Given the description of an element on the screen output the (x, y) to click on. 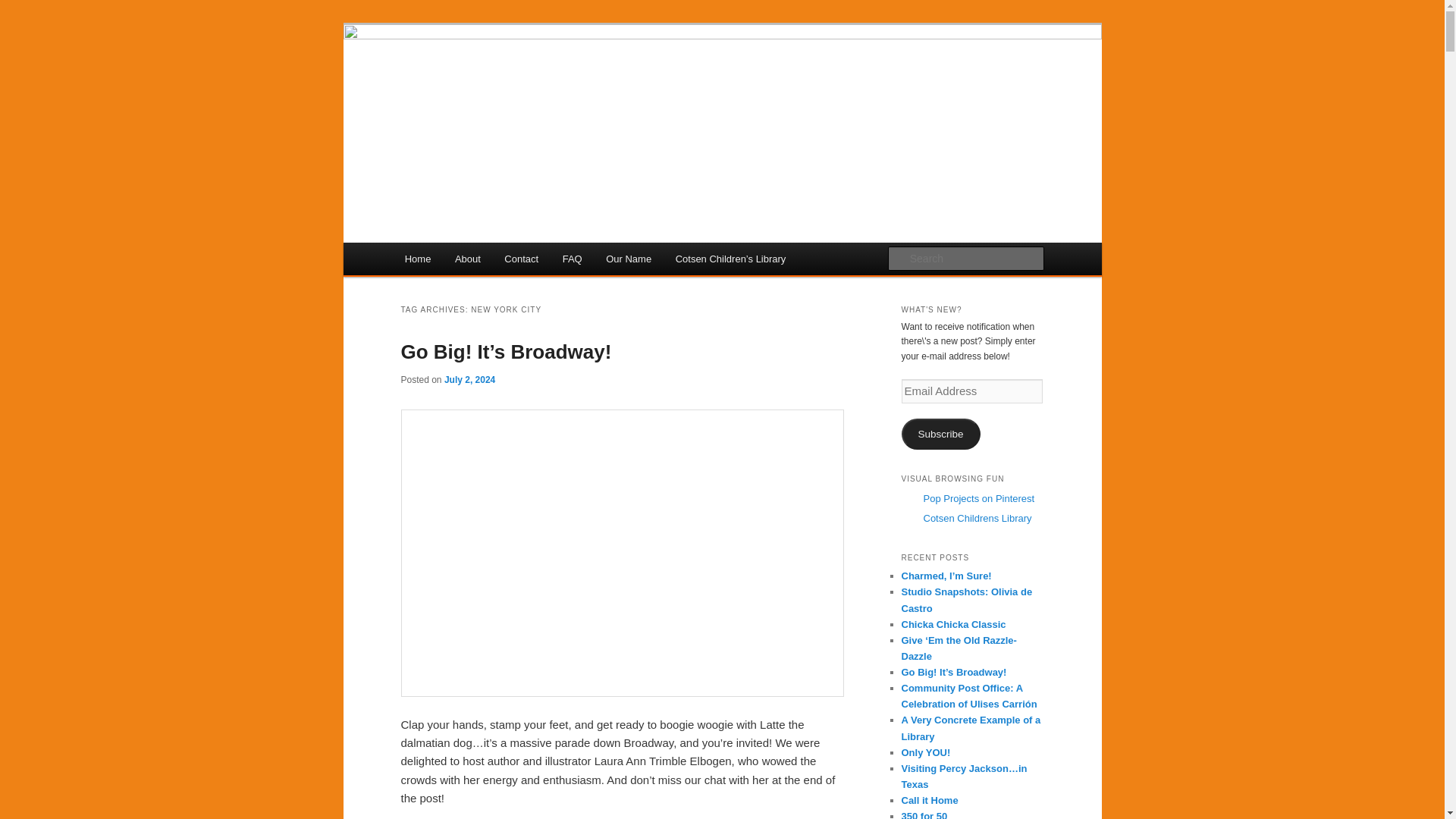
July 2, 2024 (469, 379)
3:53 pm (469, 379)
FAQ (572, 258)
Our Name (628, 258)
Search (24, 8)
Pop Goes the Page (503, 78)
Home (417, 258)
Pop Goes the Page (503, 78)
About (467, 258)
Contact (521, 258)
